Given the description of an element on the screen output the (x, y) to click on. 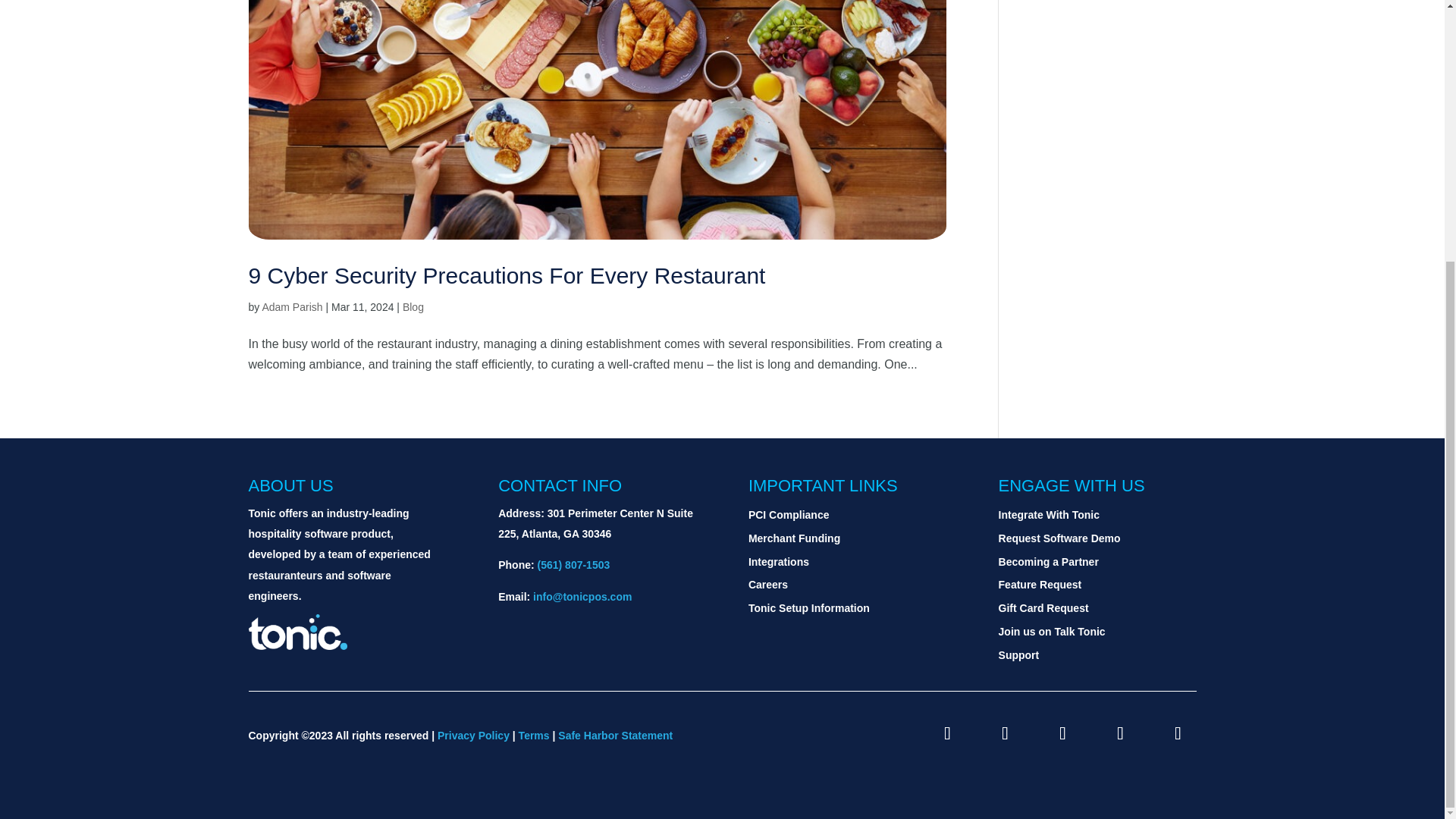
Becoming a Partner (1048, 562)
Tonic Setup Information (808, 607)
Follow on Instagram (948, 732)
Follow on LinkedIn (1063, 732)
Merchant Funding (794, 538)
Follow on Facebook (1005, 732)
Join us on Talk Tonic (1051, 631)
Safe Harbor Statement (614, 735)
Follow on Youtube (1120, 732)
Posts by Adam Parish (291, 306)
